Given the description of an element on the screen output the (x, y) to click on. 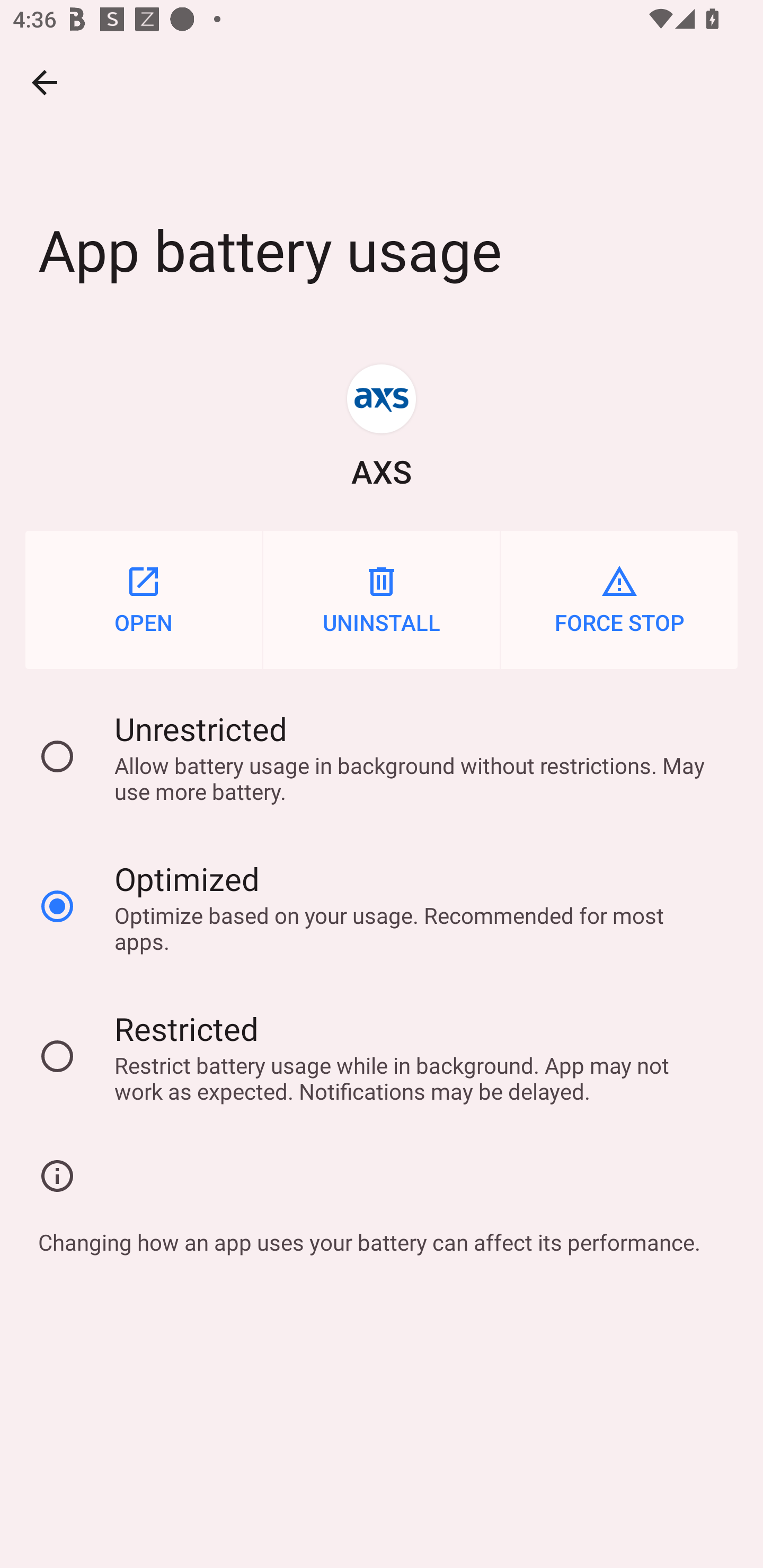
Navigate up (44, 82)
OPEN (143, 600)
UNINSTALL (381, 600)
FORCE STOP (619, 600)
